Given the description of an element on the screen output the (x, y) to click on. 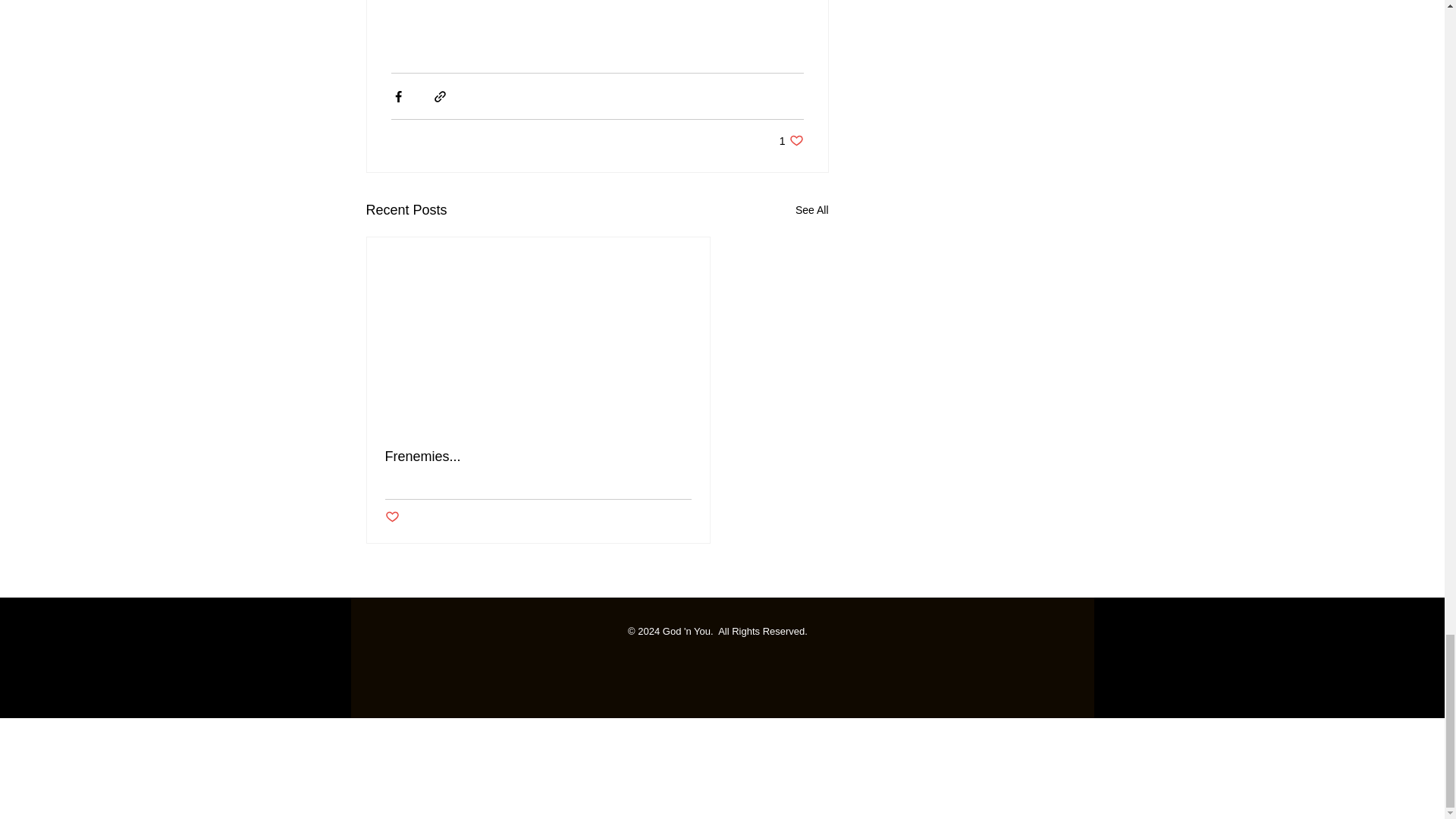
See All (811, 210)
Post not marked as liked (391, 517)
Frenemies... (538, 456)
